Given the description of an element on the screen output the (x, y) to click on. 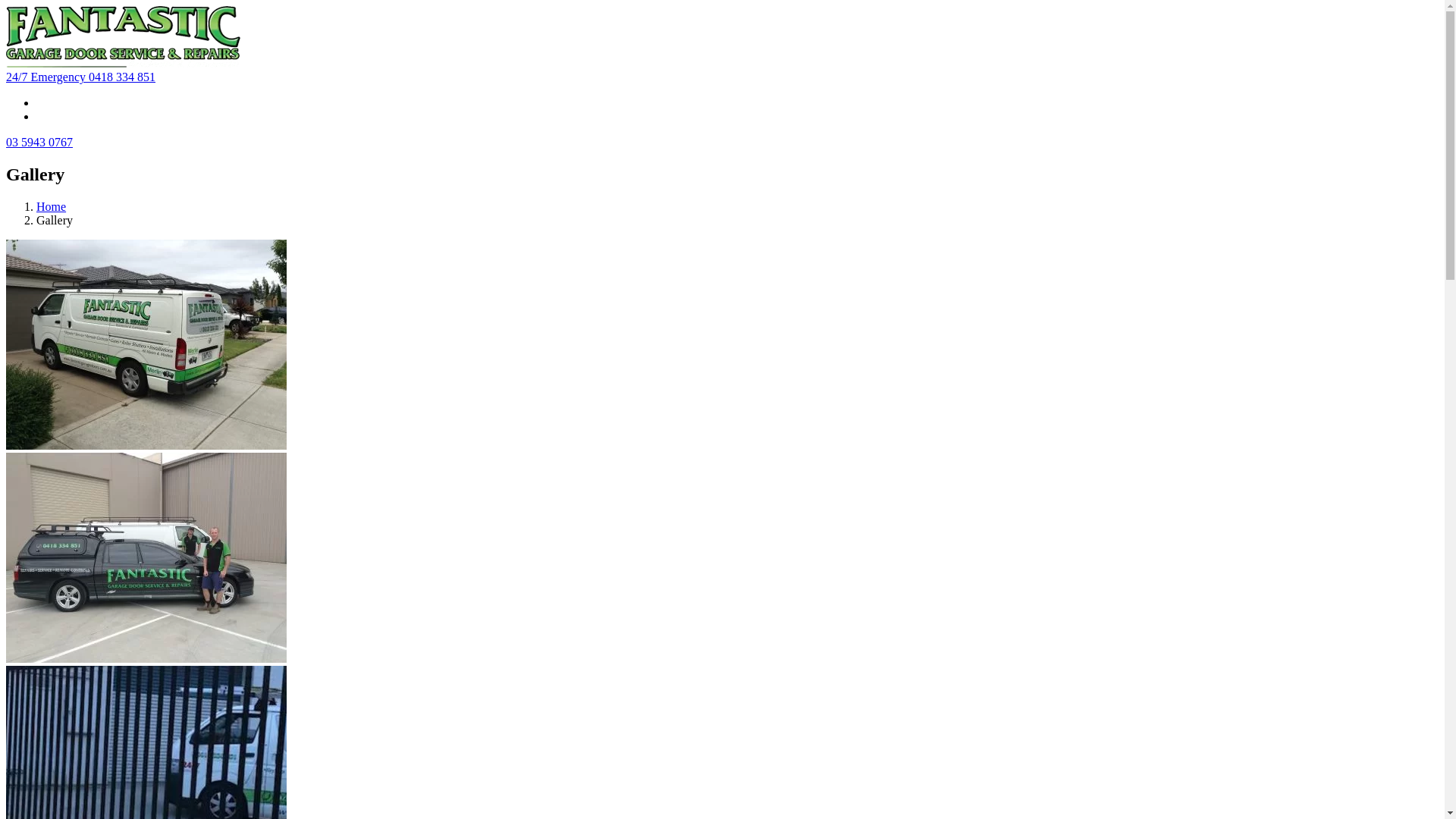
CLIENT Element type: text (1247, 201)
HOME Element type: text (900, 201)
CONTACT Element type: text (1413, 201)
03 5943 0767 Element type: text (39, 141)
Fantastic Garage Doors Element type: hover (123, 36)
Quick View Element type: hover (722, 558)
Fantastic Garage Doors Element type: hover (123, 62)
FAQ Element type: text (1359, 201)
PRODUCTS Element type: text (1182, 201)
24/7 Emergency 0418 334 851 Element type: text (80, 76)
GALLERY Element type: text (1307, 201)
INDUSTRIAL Element type: text (1052, 201)
GATES Element type: text (1118, 201)
Home Element type: text (50, 206)
Quick View Element type: hover (722, 345)
RESIDENTIAL Element type: text (968, 201)
